Given the description of an element on the screen output the (x, y) to click on. 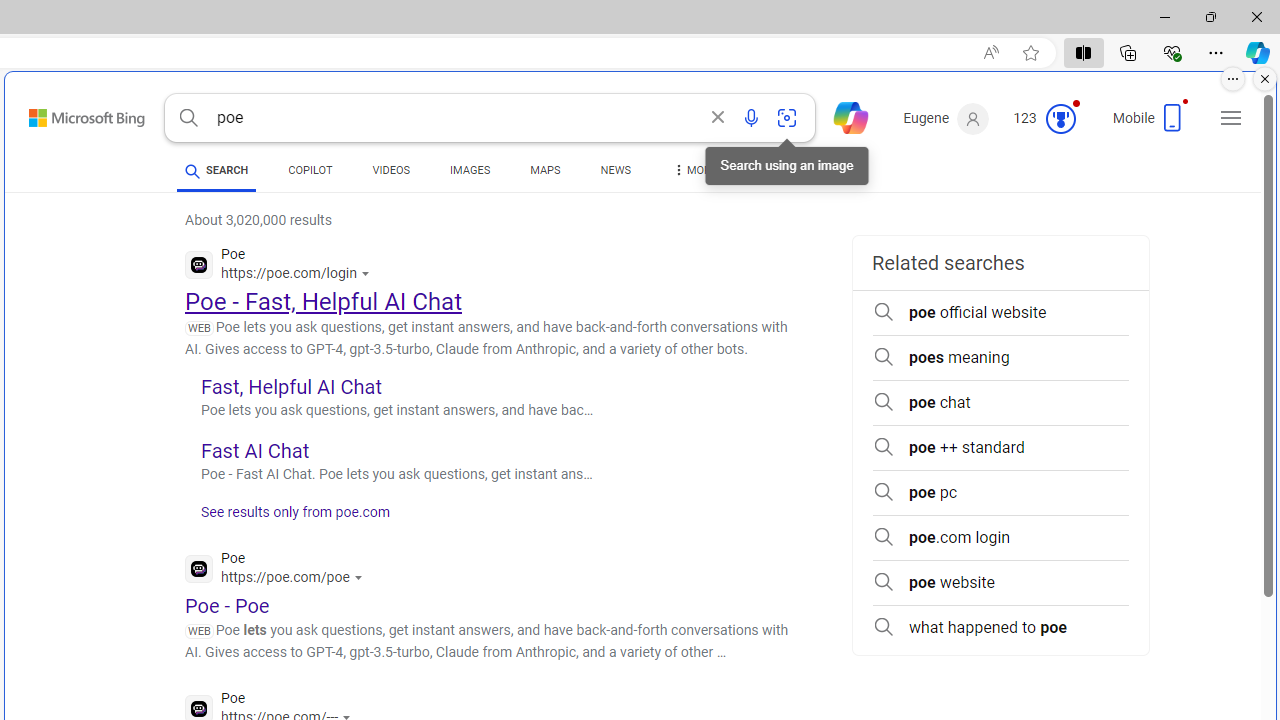
Actions for this site (360, 577)
VIDEOS (390, 173)
IMAGES (470, 173)
Microsoft Rewards 123 (1046, 119)
Fast AI Chat (254, 449)
Chat (842, 116)
poe.com login (1000, 538)
COPILOT (310, 173)
Skip to content (65, 111)
NEWS (614, 173)
